Given the description of an element on the screen output the (x, y) to click on. 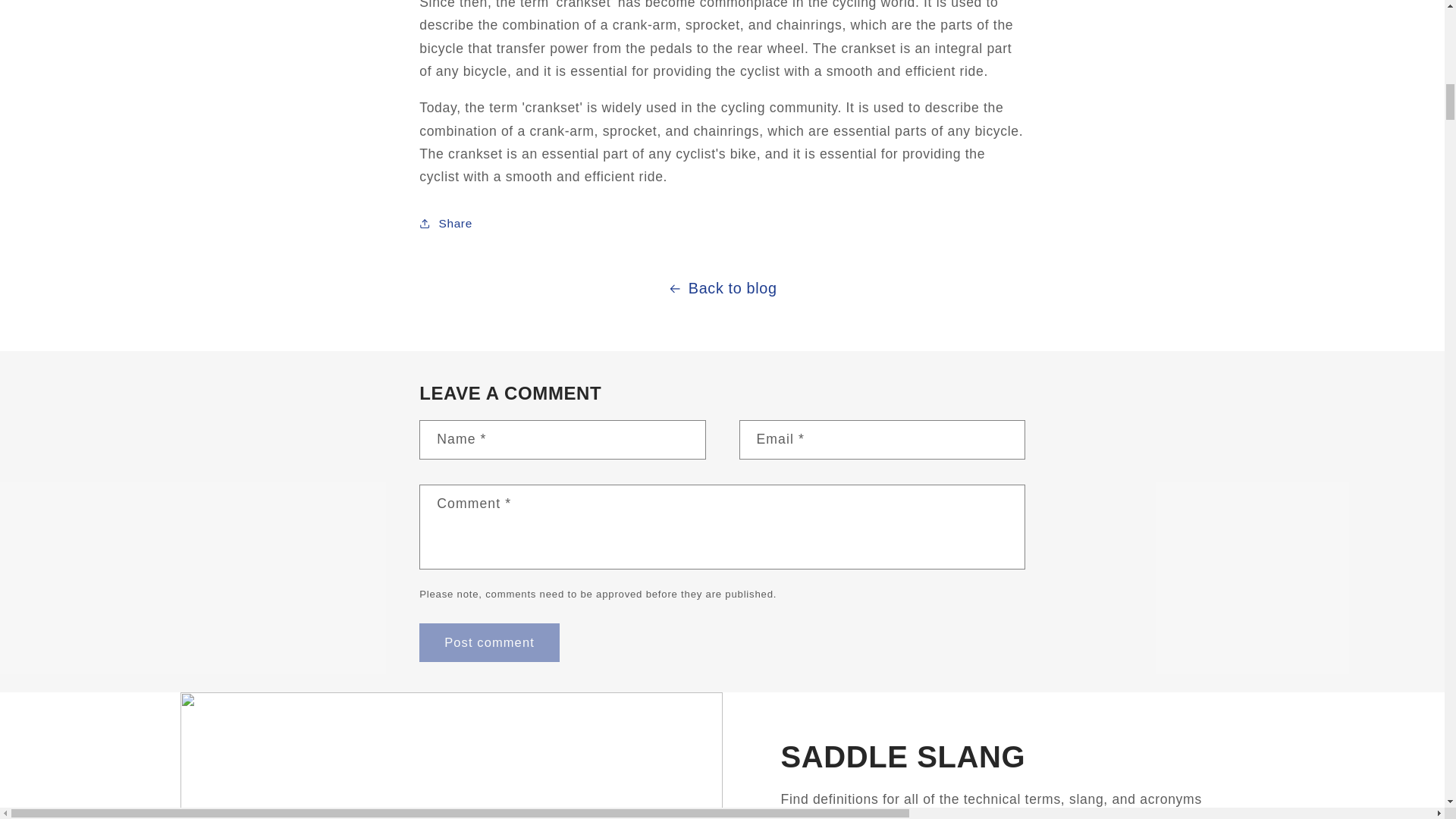
Back to blog (722, 288)
Post comment (489, 642)
Post comment (489, 642)
